Given the description of an element on the screen output the (x, y) to click on. 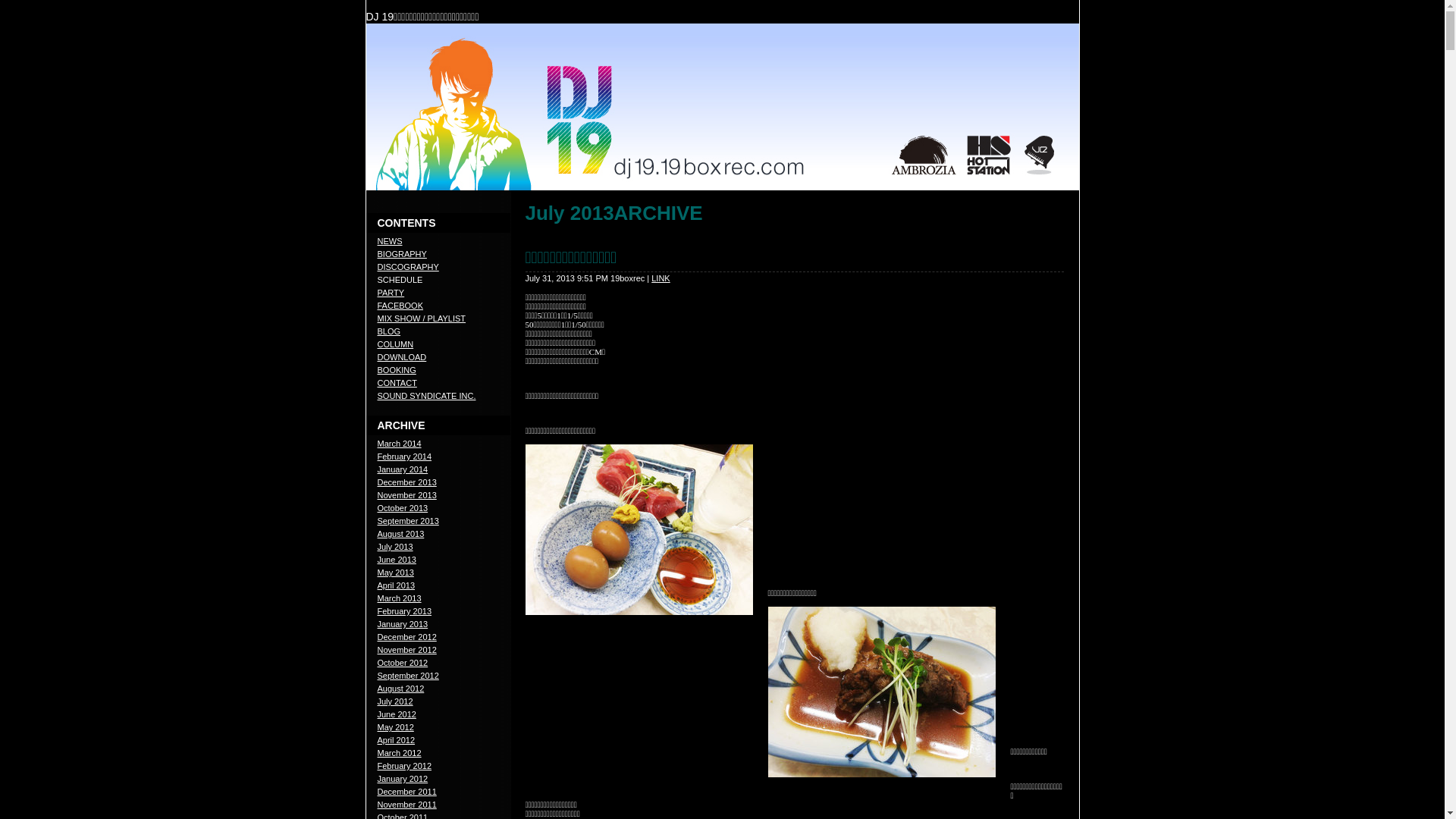
November 2012 Element type: text (406, 649)
April 2012 Element type: text (396, 739)
February 2012 Element type: text (404, 765)
June 2013 Element type: text (396, 559)
December 2011 Element type: text (406, 791)
February 2014 Element type: text (404, 456)
PARTY Element type: text (390, 292)
DOWNLOAD Element type: text (401, 356)
March 2012 Element type: text (399, 752)
LINK Element type: text (660, 277)
CONTACT Element type: text (397, 382)
BLOG Element type: text (389, 330)
September 2013 Element type: text (408, 520)
July 2012 Element type: text (395, 701)
BIOGRAPHY Element type: text (401, 253)
May 2012 Element type: text (395, 726)
January 2013 Element type: text (402, 623)
August 2012 Element type: text (400, 688)
FACEBOOK Element type: text (400, 305)
August 2013 Element type: text (400, 533)
January 2012 Element type: text (402, 778)
November 2013 Element type: text (406, 494)
DISCOGRAPHY Element type: text (408, 266)
NEWS Element type: text (389, 240)
May 2013 Element type: text (395, 572)
March 2013 Element type: text (399, 597)
BOOKING Element type: text (396, 369)
December 2012 Element type: text (406, 636)
February 2013 Element type: text (404, 610)
MIX SHOW / PLAYLIST Element type: text (421, 318)
March 2014 Element type: text (399, 443)
July 2013 Element type: text (395, 546)
October 2013 Element type: text (402, 507)
December 2013 Element type: text (406, 481)
June 2012 Element type: text (396, 713)
ARCHIVE Element type: text (401, 425)
COLUMN Element type: text (395, 343)
November 2011 Element type: text (406, 804)
April 2013 Element type: text (396, 584)
SOUND SYNDICATE INC. Element type: text (426, 395)
October 2012 Element type: text (402, 662)
January 2014 Element type: text (402, 468)
September 2012 Element type: text (408, 675)
